Given the description of an element on the screen output the (x, y) to click on. 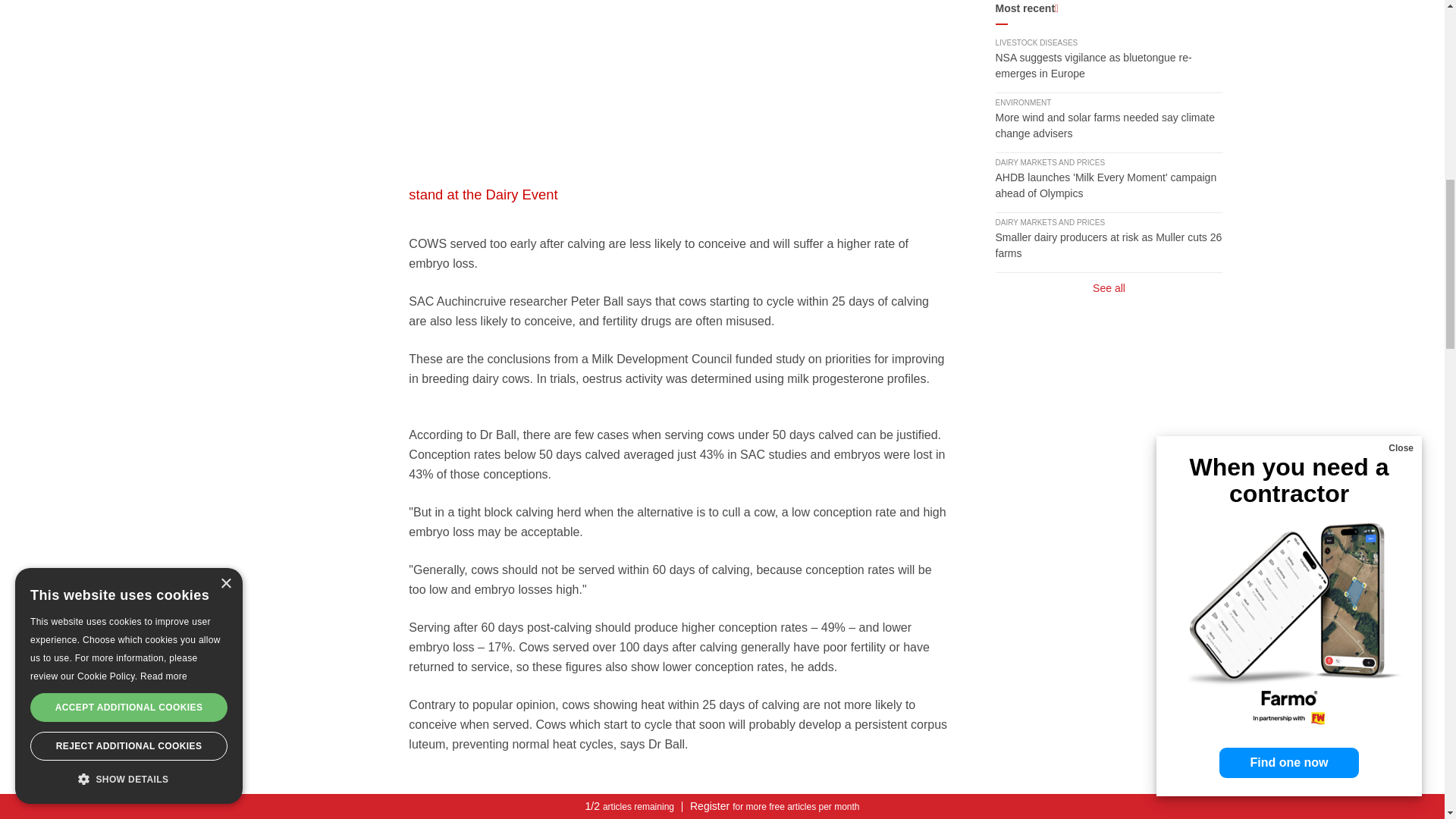
3rd party ad content (679, 90)
